Given the description of an element on the screen output the (x, y) to click on. 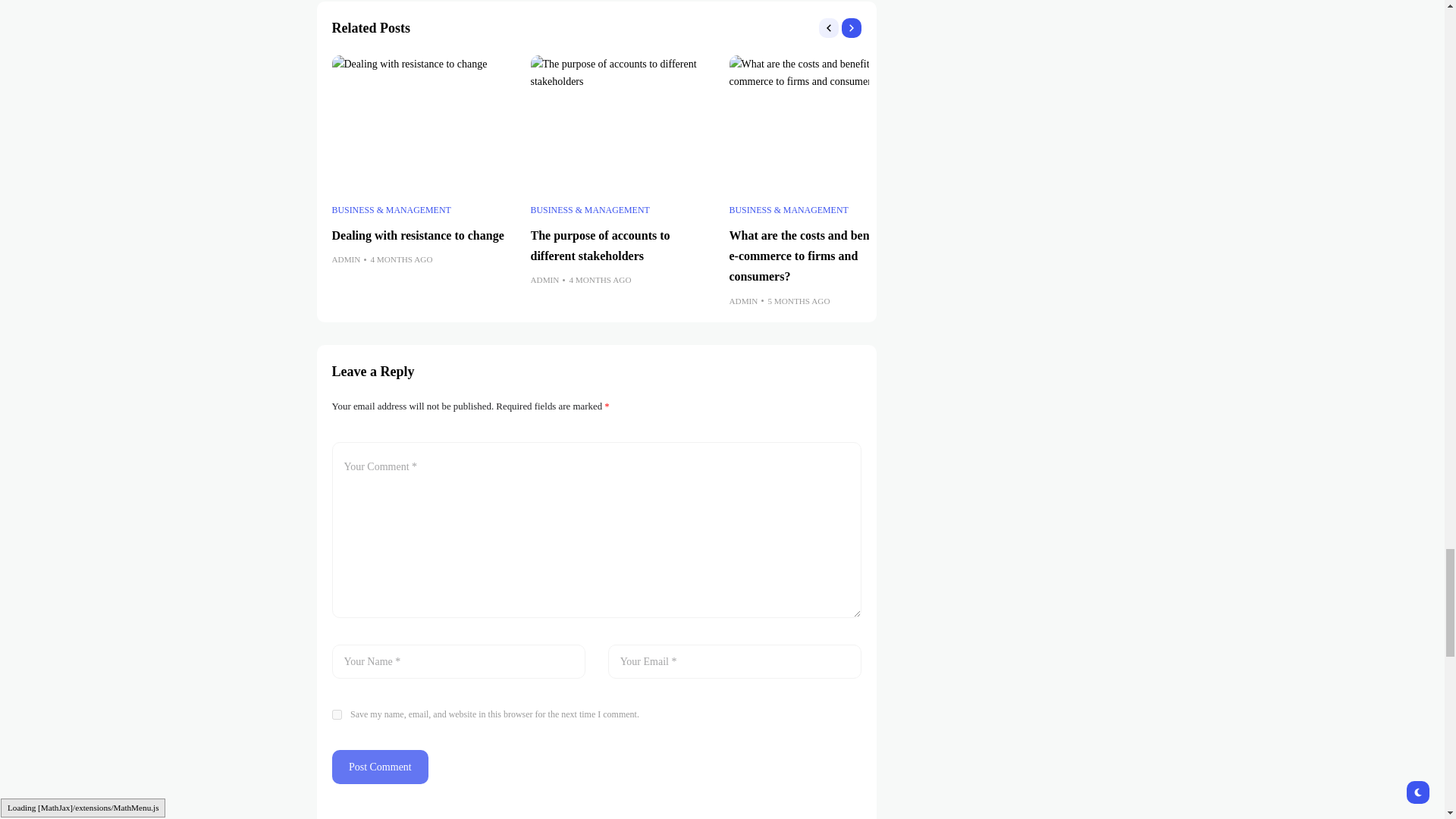
The purpose of accounts to different stakeholders (622, 124)
Posts by Admin (346, 259)
Post Comment (380, 766)
yes (336, 714)
Dealing with resistance to change (423, 124)
Posts by Admin (545, 279)
